Given the description of an element on the screen output the (x, y) to click on. 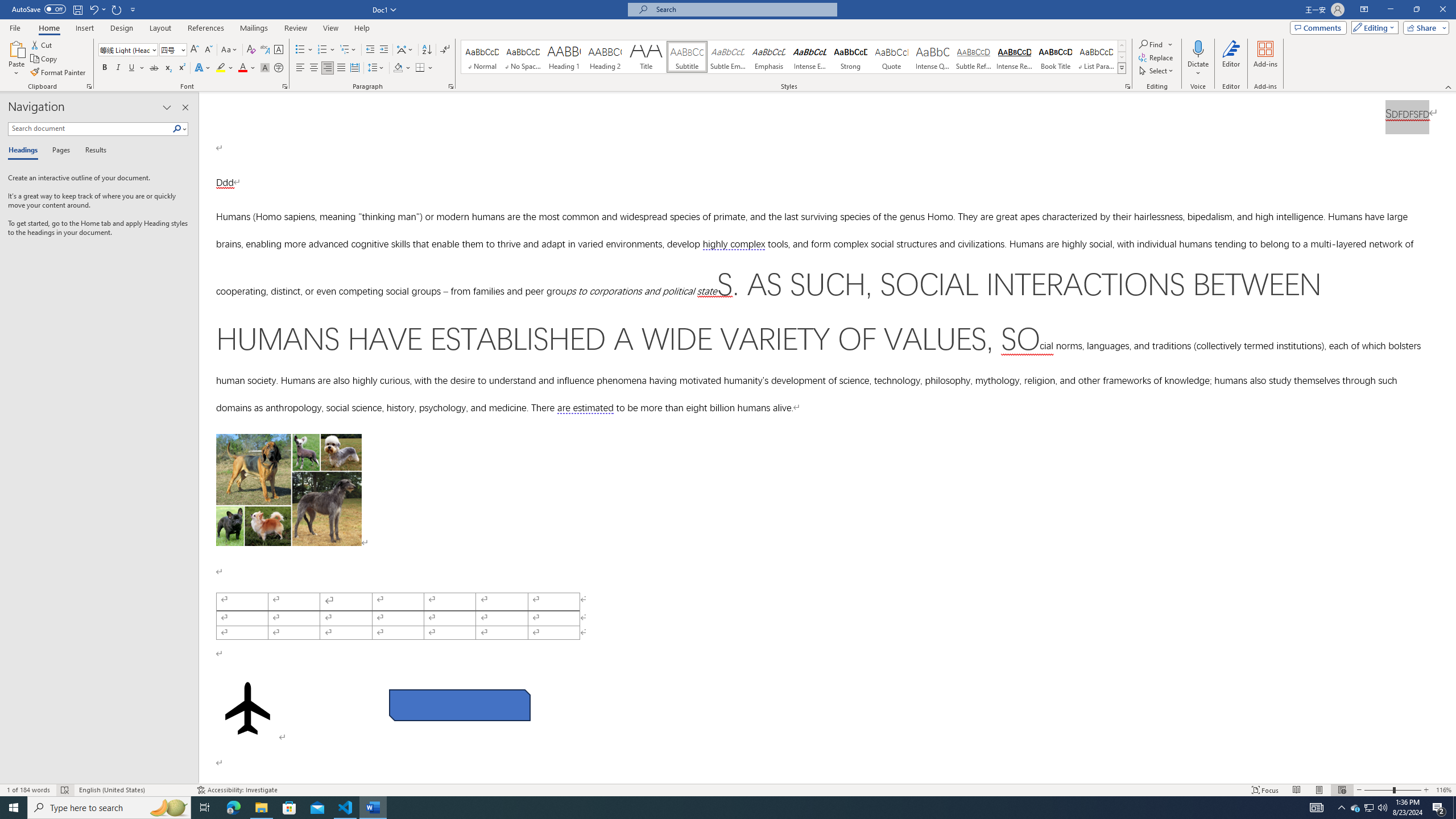
AutomationID: QuickStylesGallery (794, 56)
Multilevel List (347, 49)
Microsoft search (742, 9)
Grow Font (193, 49)
Strong (849, 56)
Sort... (426, 49)
Heading 1 (564, 56)
Book Title (1055, 56)
